Given the description of an element on the screen output the (x, y) to click on. 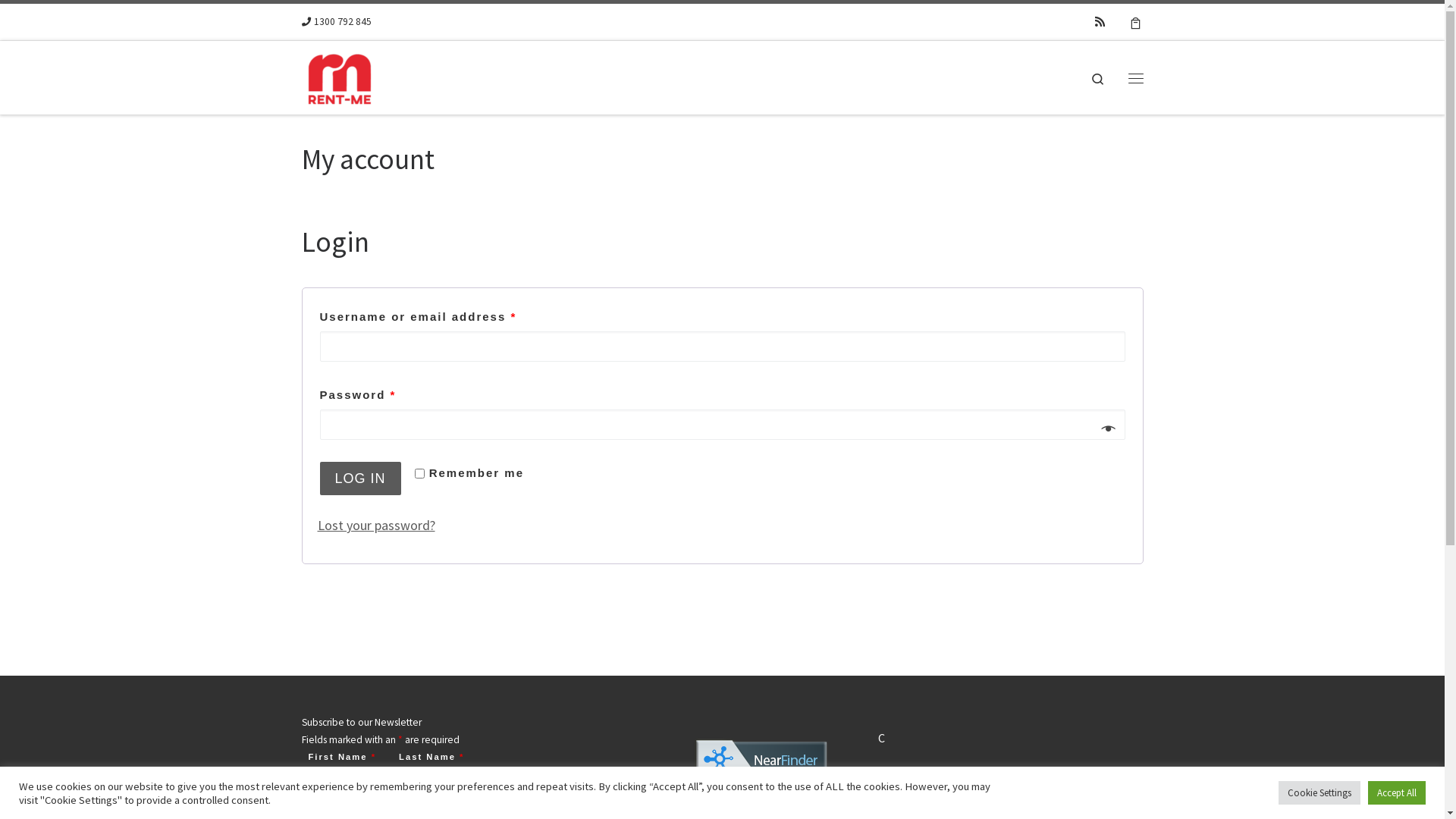
Menu Element type: text (1135, 78)
View your shopping cart Element type: hover (1135, 21)
1300 792 845 Element type: text (336, 22)
Subscribe to my rss feed Element type: hover (1099, 21)
Accept All Element type: text (1396, 792)
Rubbish Removal & Skip Bins in Castle Hill, New South Wales Element type: hover (759, 793)
Cookie Settings Element type: text (1319, 792)
LOG IN Element type: text (360, 478)
Lost your password? Element type: text (375, 524)
Search Element type: text (1097, 77)
Skip to content Element type: text (57, 21)
